Given the description of an element on the screen output the (x, y) to click on. 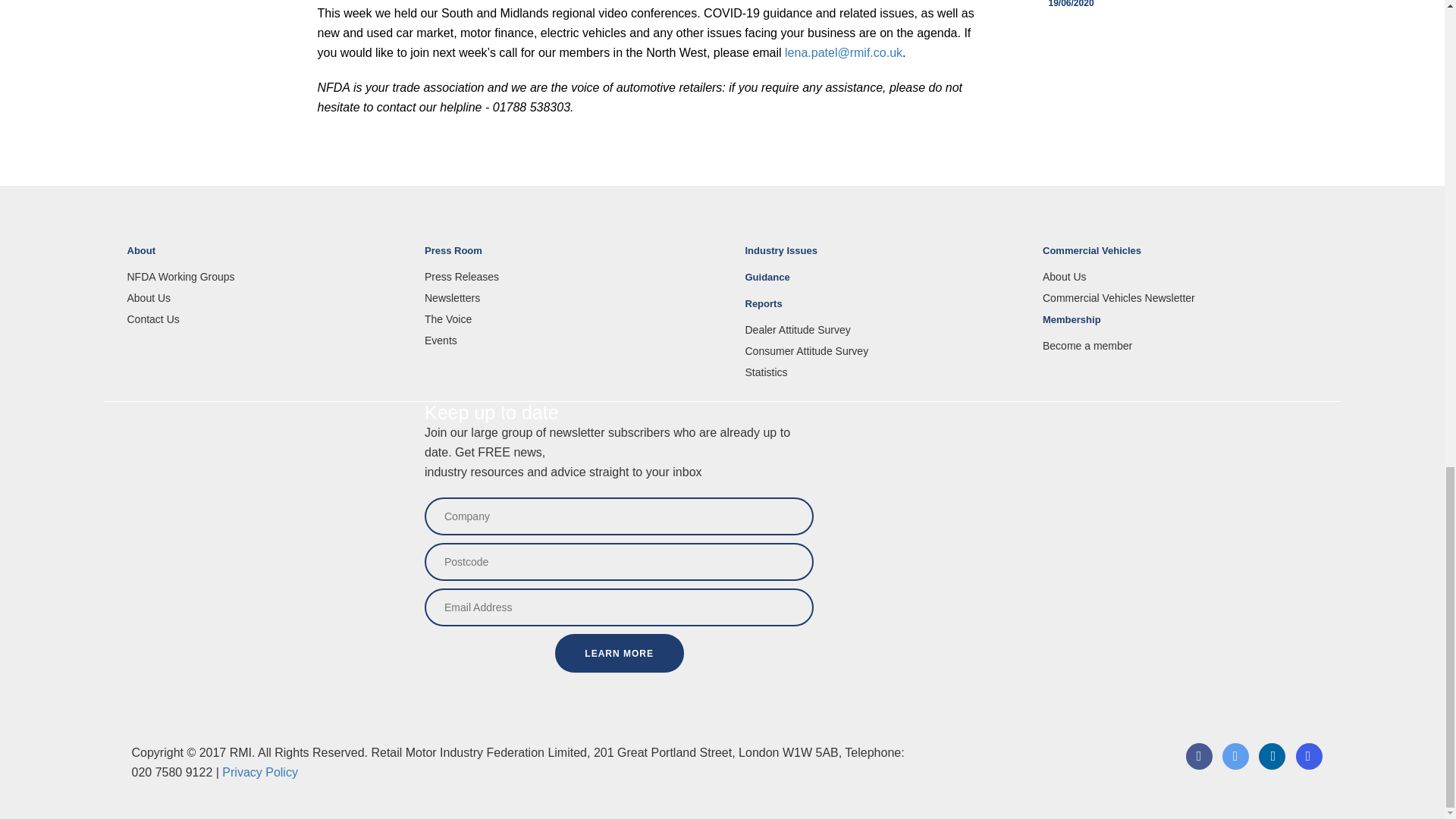
Dealer Attitude Survey (882, 329)
Industry Issues (882, 257)
NFDA Working Groups (265, 276)
Reports (882, 310)
About (265, 257)
Newsletters (562, 297)
Press Releases (562, 276)
Consumer Attitude Survey (882, 350)
Twitter (1234, 765)
Instagram (1308, 765)
Contact Us (265, 318)
LinkedIn (1271, 765)
Guidance (882, 284)
Facebook (1198, 765)
Press Room (562, 257)
